Given the description of an element on the screen output the (x, y) to click on. 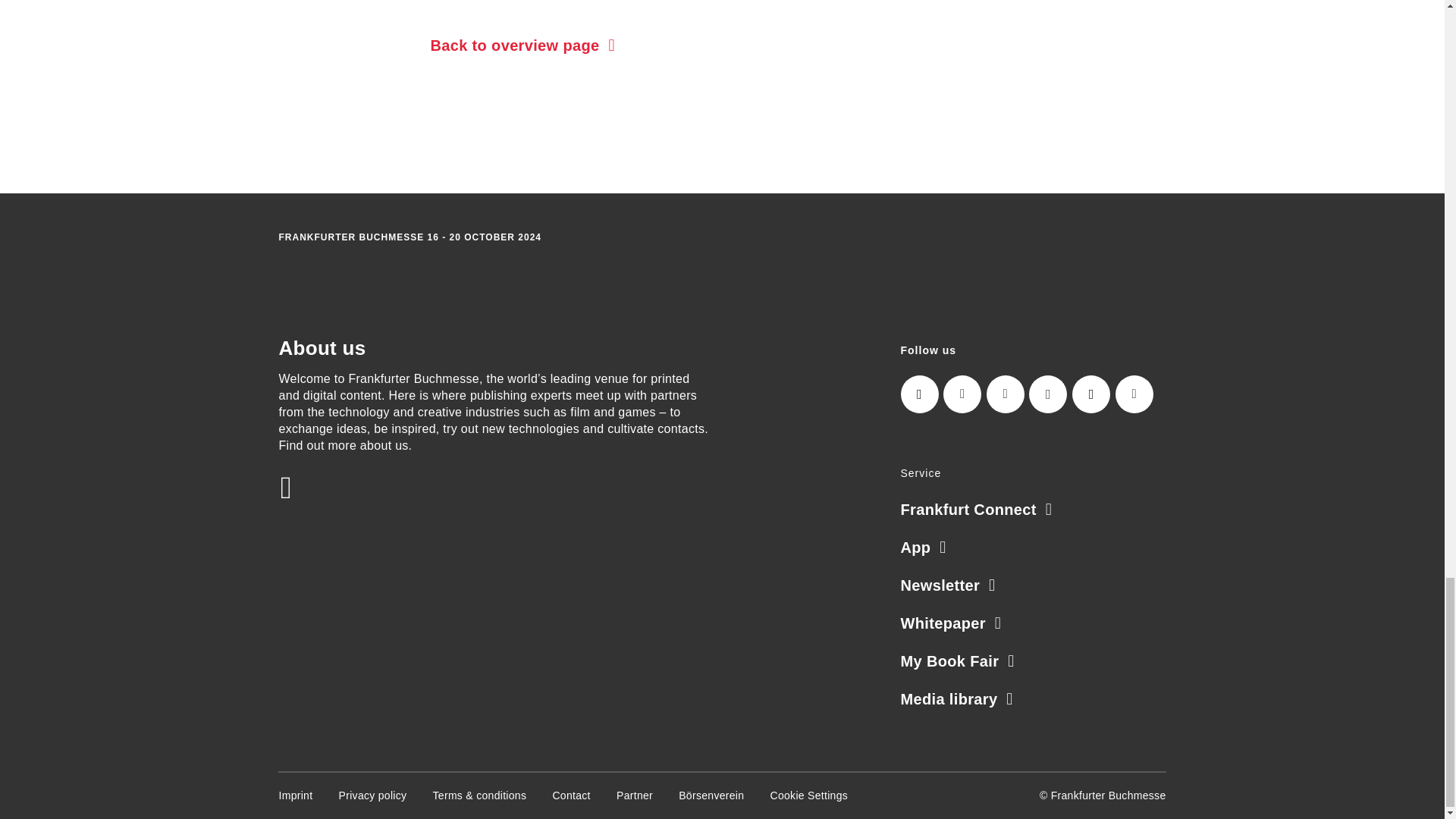
Facebook (1048, 394)
Back to overview page (521, 45)
TikTok (1090, 394)
Youtube (1134, 394)
Twitter (1006, 394)
Instagram (920, 394)
LinkedIn (962, 394)
